Given the description of an element on the screen output the (x, y) to click on. 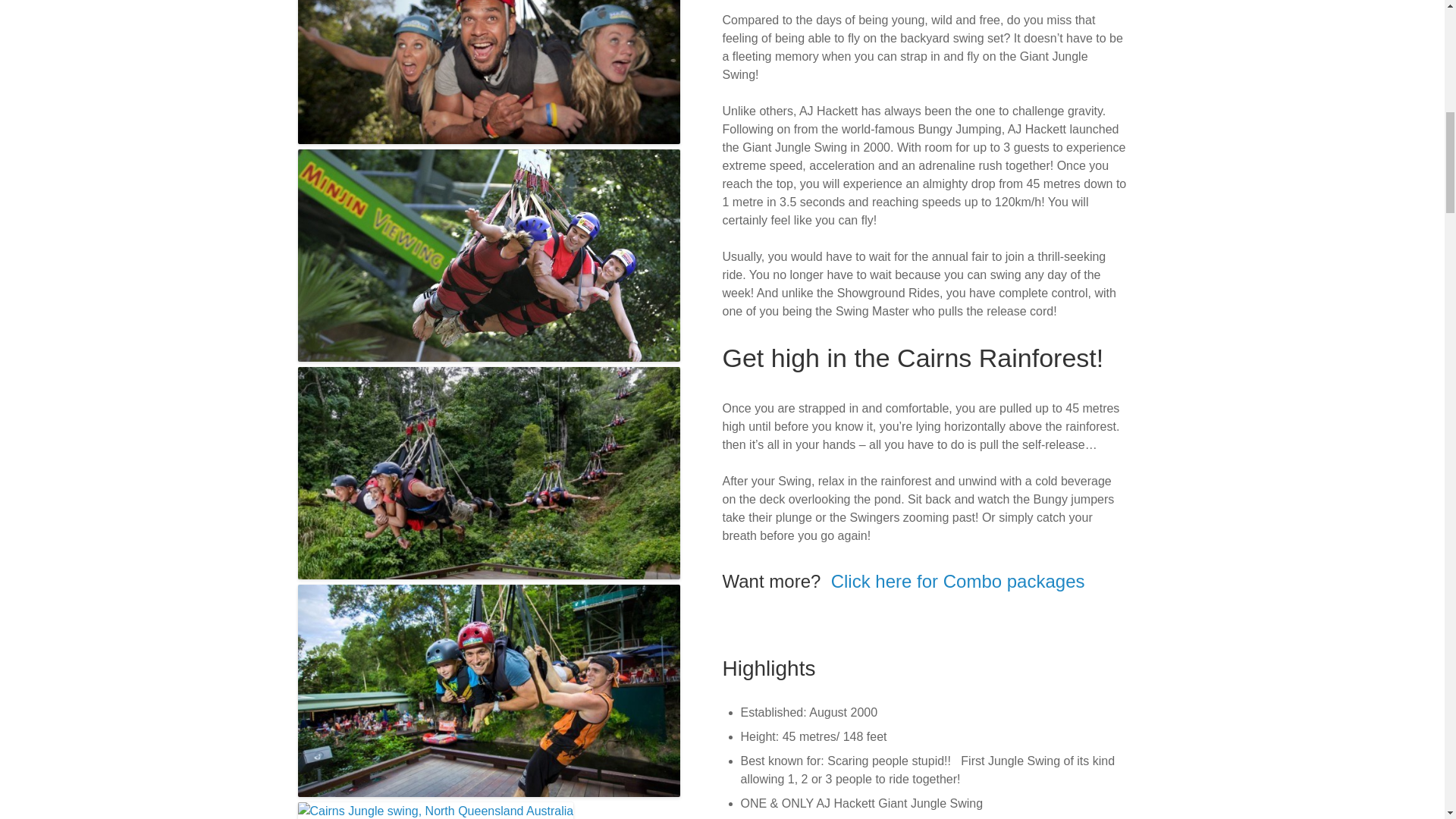
Grab your mates for this rush through the Rainforest (488, 466)
AJ Hackett Giant Jungle SwingNorth Queensland Australia (488, 683)
AJ Hackett Giant Jungle SwingNorth Queensland Australia (488, 139)
